Given the description of an element on the screen output the (x, y) to click on. 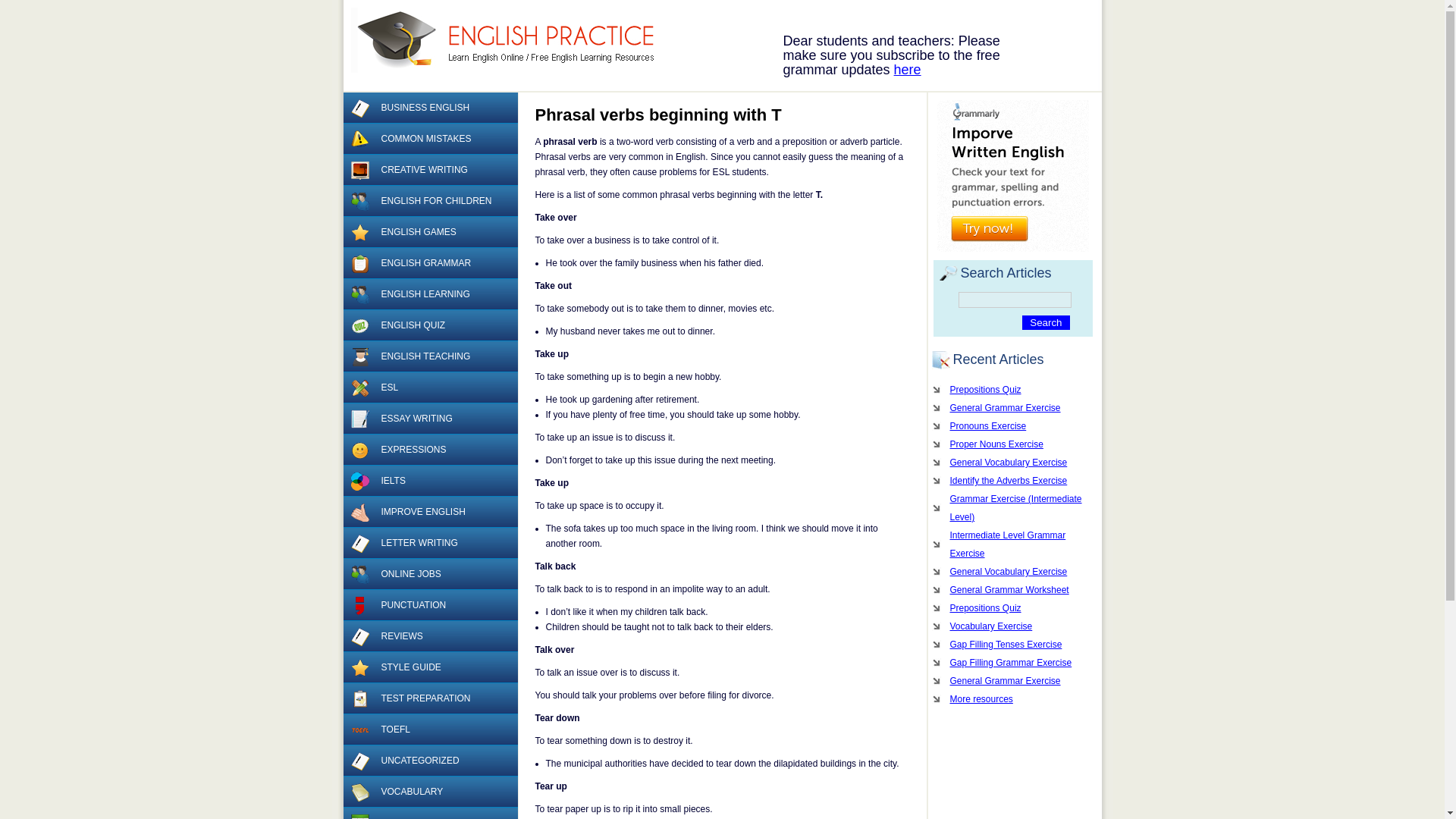
Expressions (359, 450)
UNCATEGORIZED (429, 760)
Common Mistakes (359, 139)
Essay Writing (359, 419)
ESSAY WRITING (429, 418)
English for children (359, 201)
TEST PREPARATION (429, 698)
English Learning (359, 294)
ENGLISH FOR CHILDREN (429, 201)
English Grammar (359, 263)
